Given the description of an element on the screen output the (x, y) to click on. 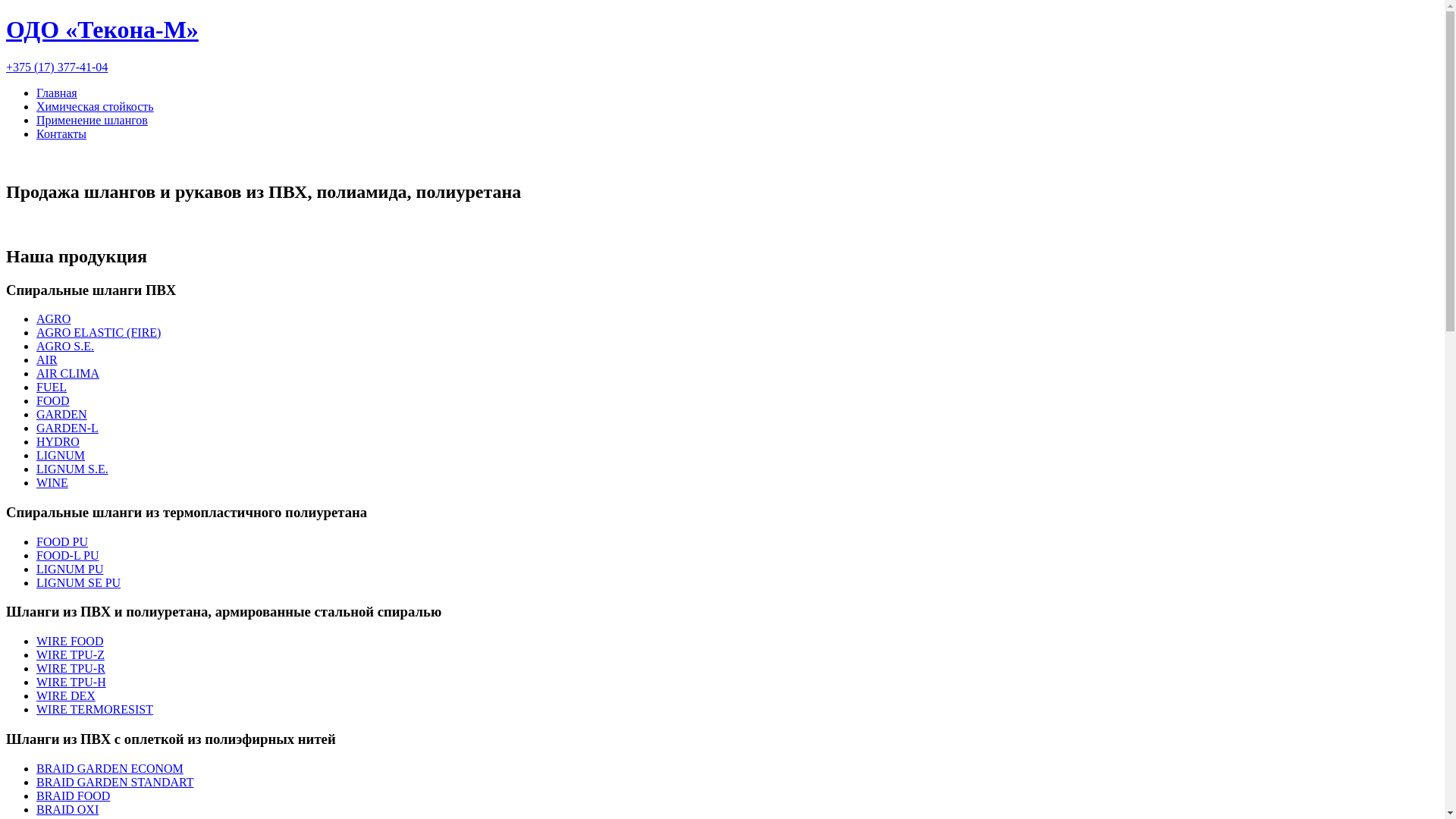
HYDRO Element type: text (57, 441)
LIGNUM SE PU Element type: text (78, 582)
WIRE TERMORESIST Element type: text (94, 708)
AIR Element type: text (46, 359)
AGRO Element type: text (53, 318)
FOOD Element type: text (52, 400)
LIGNUM S.E. Element type: text (72, 468)
+375 (17) 377-41-04 Element type: text (56, 66)
WIRE TPU-H Element type: text (71, 681)
BRAID OXI Element type: text (67, 809)
FUEL Element type: text (51, 386)
WINE Element type: text (52, 482)
AGRO ELASTIC (FIRE) Element type: text (98, 332)
LIGNUM PU Element type: text (69, 568)
FOOD-L PU Element type: text (67, 555)
WIRE TPU-Z Element type: text (70, 654)
LIGNUM Element type: text (60, 454)
BRAID GARDEN STANDART Element type: text (115, 781)
AIR CLIMA Element type: text (67, 373)
WIRE DEX Element type: text (65, 695)
GARDEN Element type: text (61, 413)
AGRO S.E. Element type: text (65, 345)
BRAID GARDEN ECONOM Element type: text (109, 768)
GARDEN-L Element type: text (67, 427)
BRAID FOOD Element type: text (72, 795)
FOOD PU Element type: text (61, 541)
WIRE FOOD Element type: text (69, 640)
WIRE TPU-R Element type: text (70, 668)
